Given the description of an element on the screen output the (x, y) to click on. 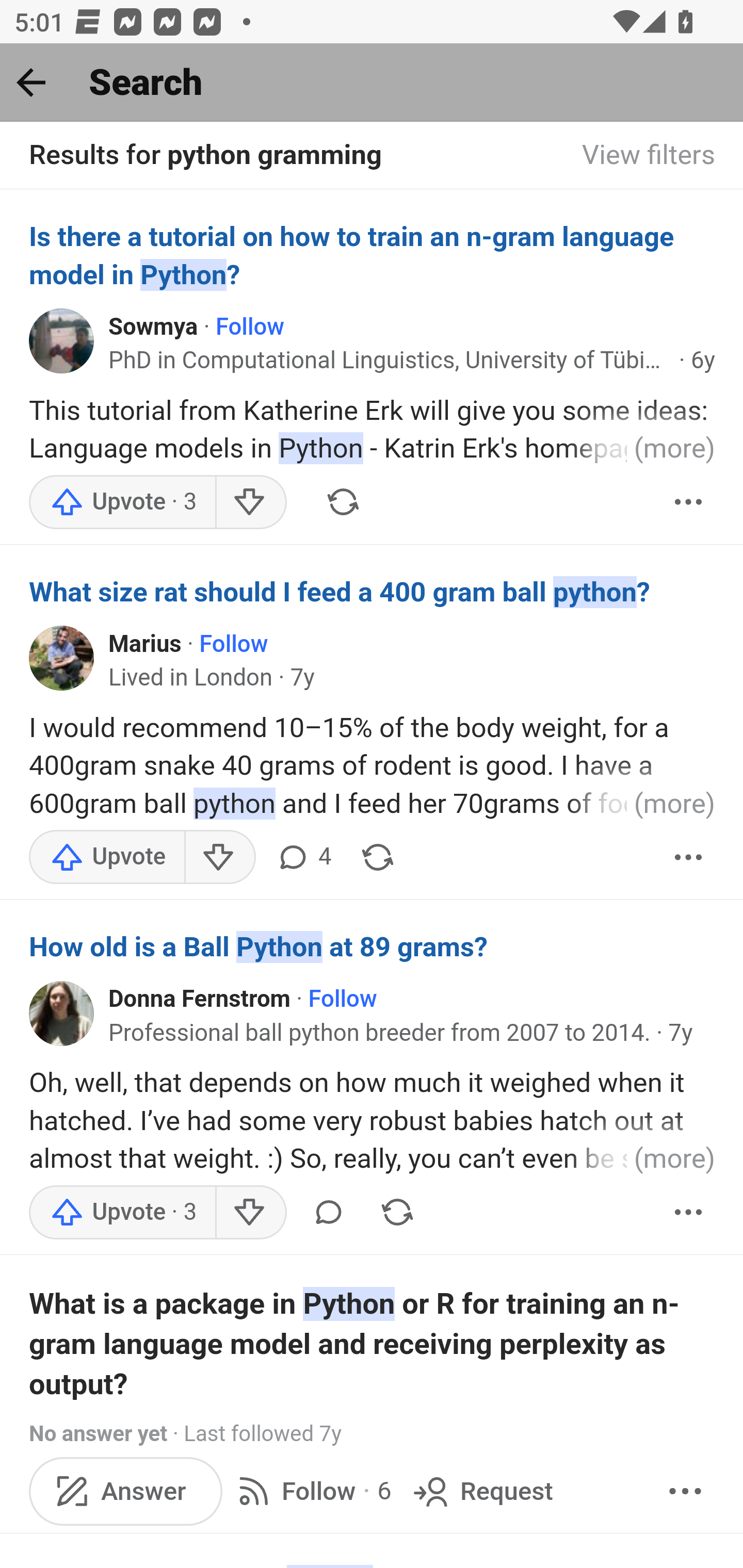
Back Search (371, 82)
Back (30, 82)
View filters (648, 155)
Profile photo for Sowmya (61, 340)
Sowmya (153, 326)
Follow (249, 326)
6y 6 y (702, 360)
Upvote (122, 501)
Downvote (249, 501)
Share (343, 501)
More (688, 501)
Profile photo for Marius (61, 658)
Marius (145, 644)
Follow (233, 644)
7y 7 y (302, 677)
Upvote (106, 856)
Downvote (219, 856)
4 comments (302, 856)
Share (378, 856)
More (688, 856)
How old is a Ball Python at 89 grams? (372, 946)
Profile photo for Donna Fernstrom (61, 1011)
Donna Fernstrom (200, 1000)
Follow (341, 1000)
7y 7 y (680, 1033)
Upvote (122, 1211)
Downvote (249, 1211)
Comment (328, 1211)
Share (397, 1211)
More (688, 1211)
No answer yet (97, 1433)
Answer (125, 1490)
Follow · 6 (311, 1490)
Request (480, 1490)
More (684, 1490)
What is an N gram in Python? (372, 1564)
